Given the description of an element on the screen output the (x, y) to click on. 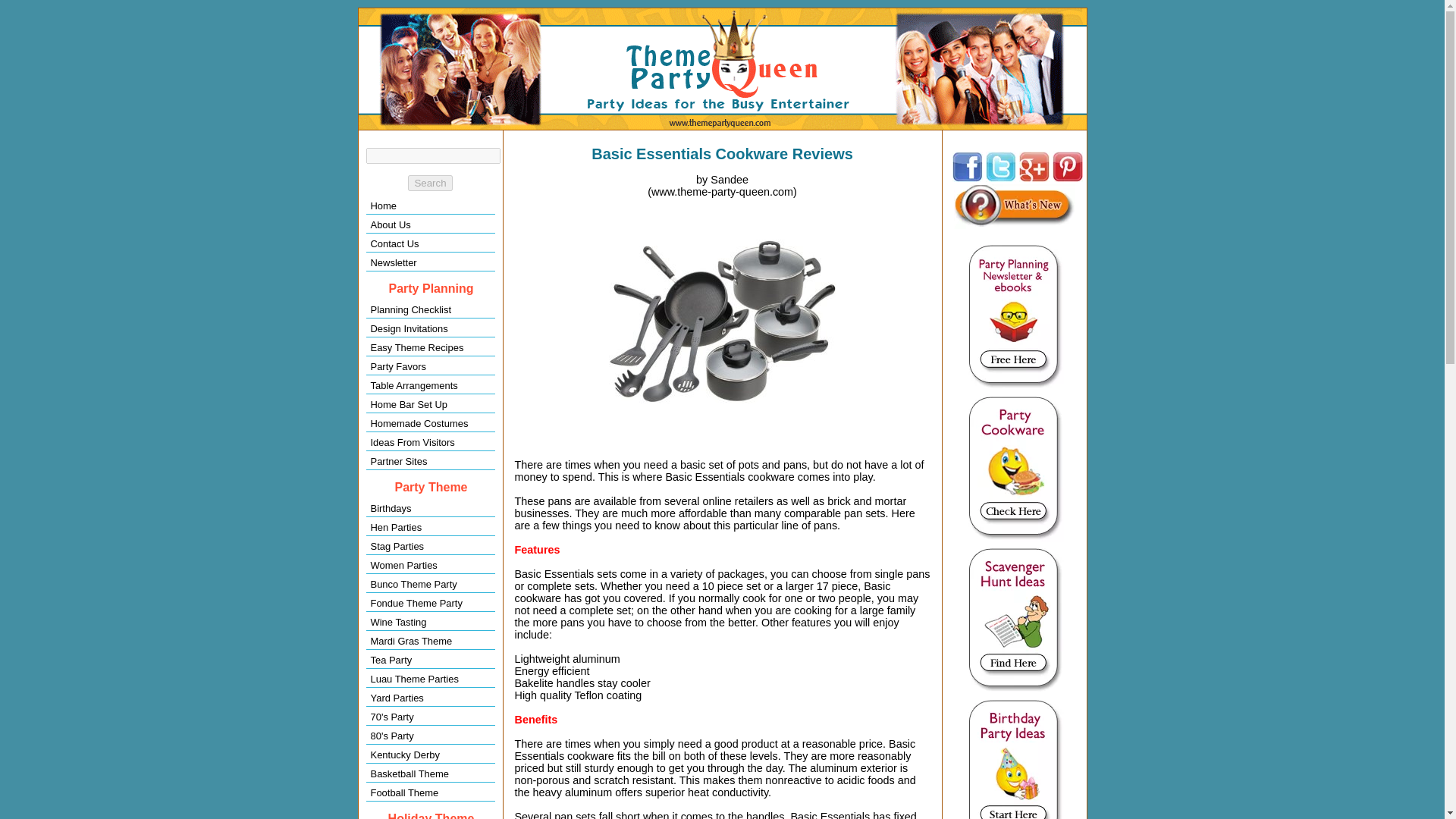
Contact Us (430, 243)
Stag Parties (430, 546)
Birthdays (430, 508)
Ideas From Visitors (430, 442)
Hen Parties (430, 527)
Search (429, 182)
Partner Sites (430, 461)
Design Invitations (430, 328)
Theme Party Blog (1014, 206)
Luau Theme Parties (430, 678)
Home Bar Set Up (430, 404)
Newsletter (430, 262)
Party Favors (430, 366)
Search (429, 182)
Wine Tasting (430, 621)
